Given the description of an element on the screen output the (x, y) to click on. 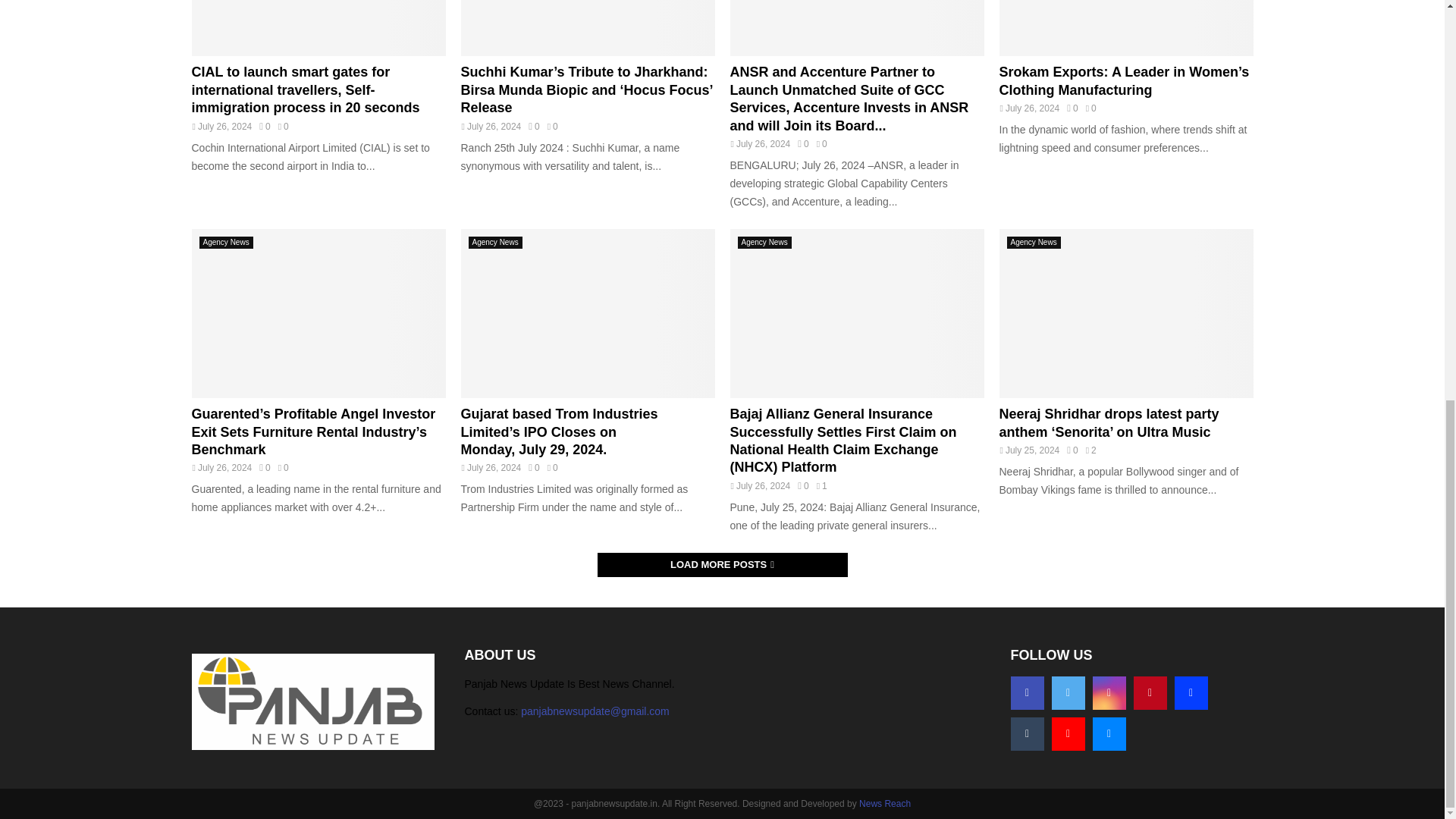
0 (1072, 108)
0 (533, 126)
0 (802, 143)
0 (264, 126)
